Given the description of an element on the screen output the (x, y) to click on. 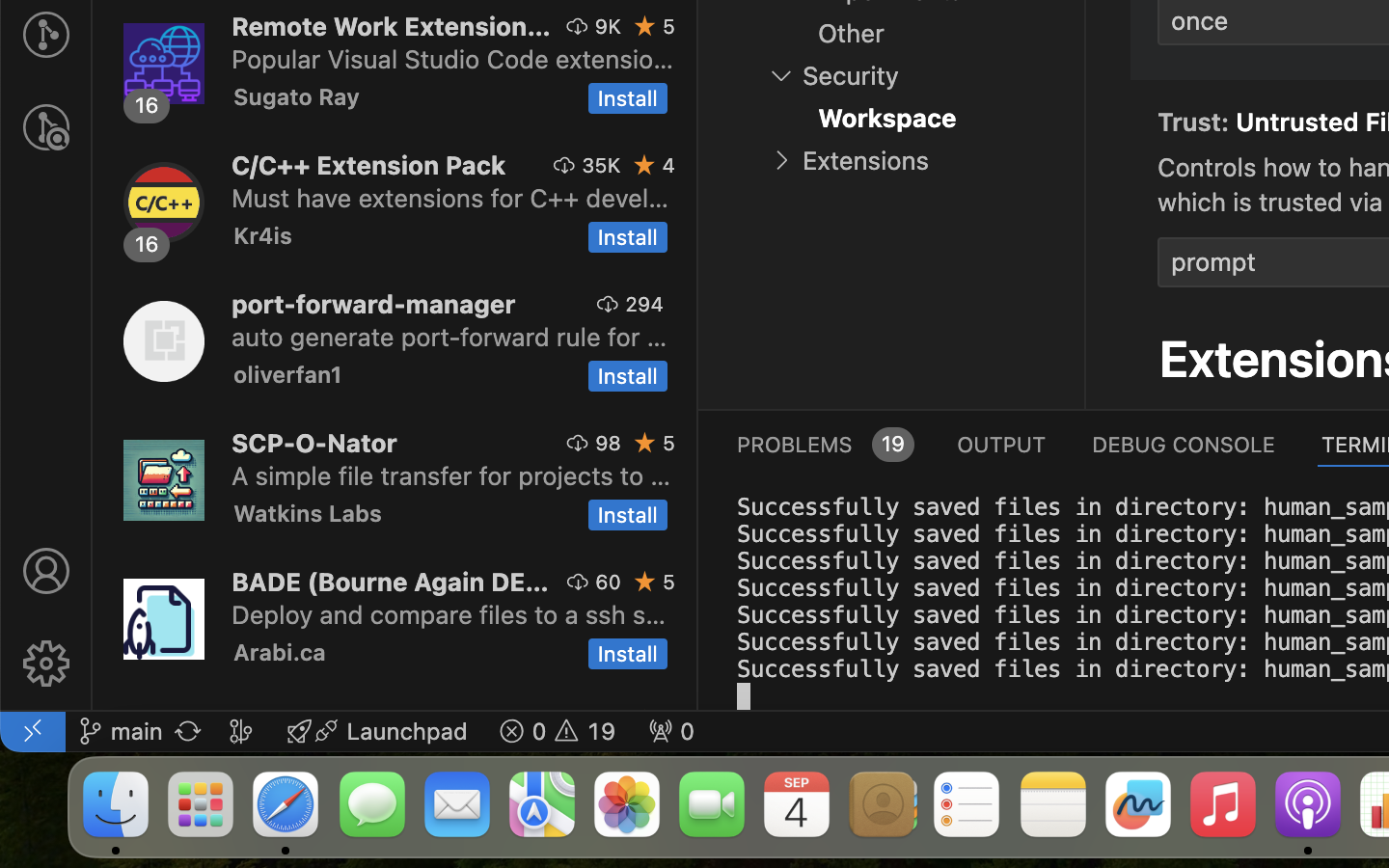
Sugato Ray Element type: AXStaticText (296, 95)
 Element type: AXStaticText (1108, 117)
Launchpad   Element type: AXButton (376, 730)
Deploy and compare files to a ssh server Element type: AXStaticText (449, 613)
 Element type: AXStaticText (644, 164)
